Given the description of an element on the screen output the (x, y) to click on. 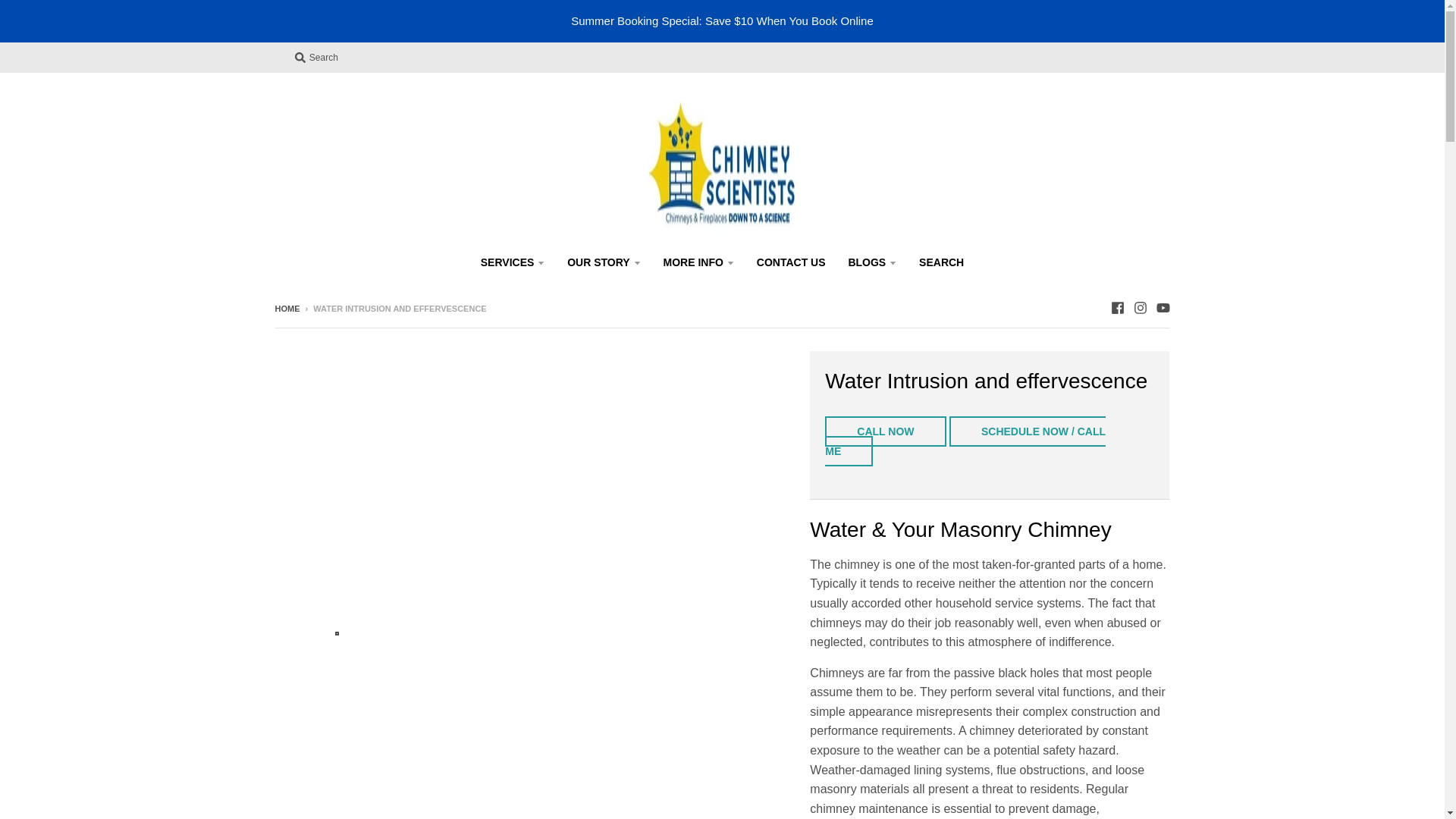
Facebook - Chimney Scientist (1116, 307)
Back to the frontpage (287, 307)
Instagram - Chimney Scientist (1139, 307)
YouTube - Chimney Scientist (1162, 307)
Search (315, 56)
